Given the description of an element on the screen output the (x, y) to click on. 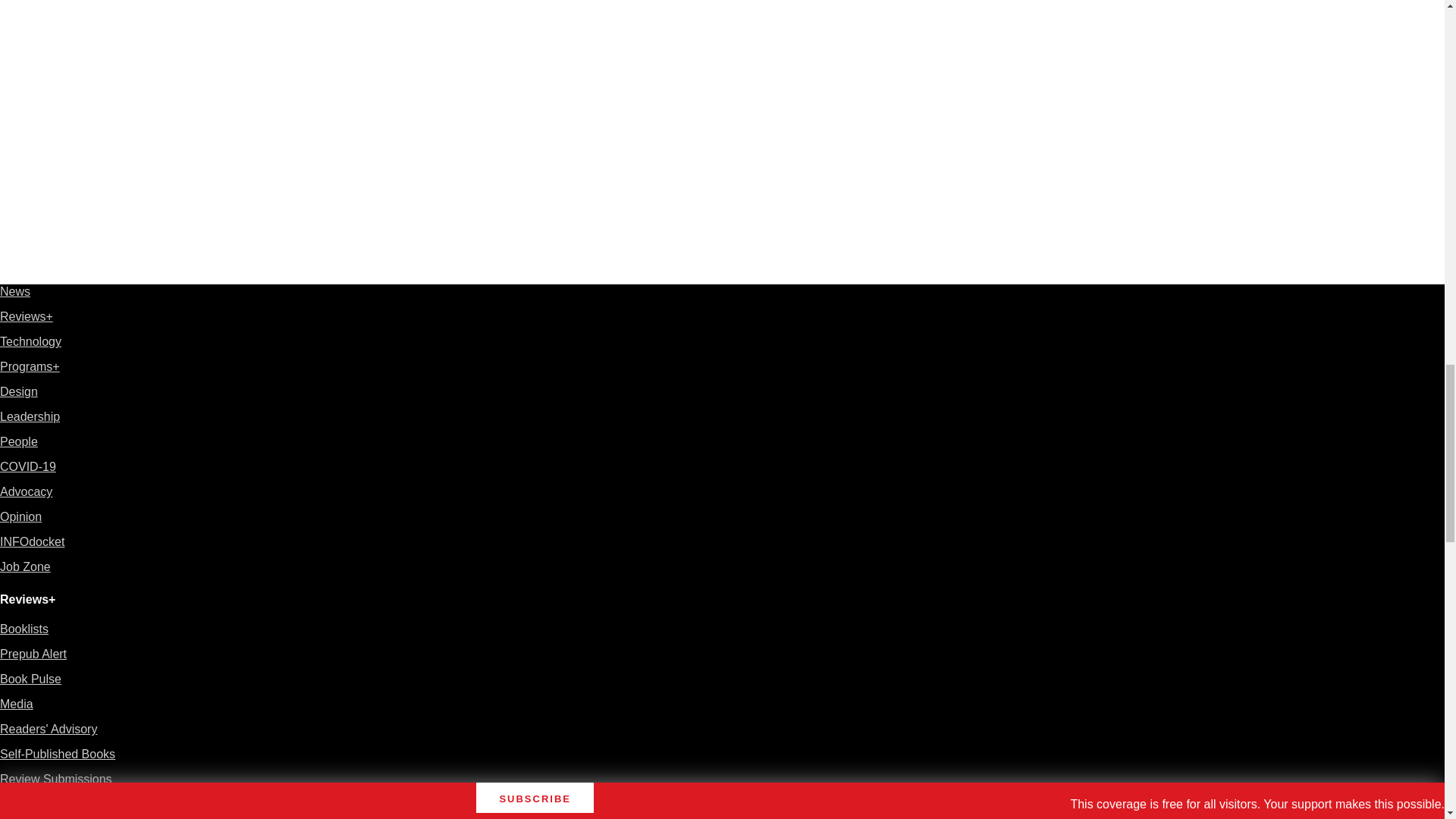
3rd party ad content (1106, 94)
